Given the description of an element on the screen output the (x, y) to click on. 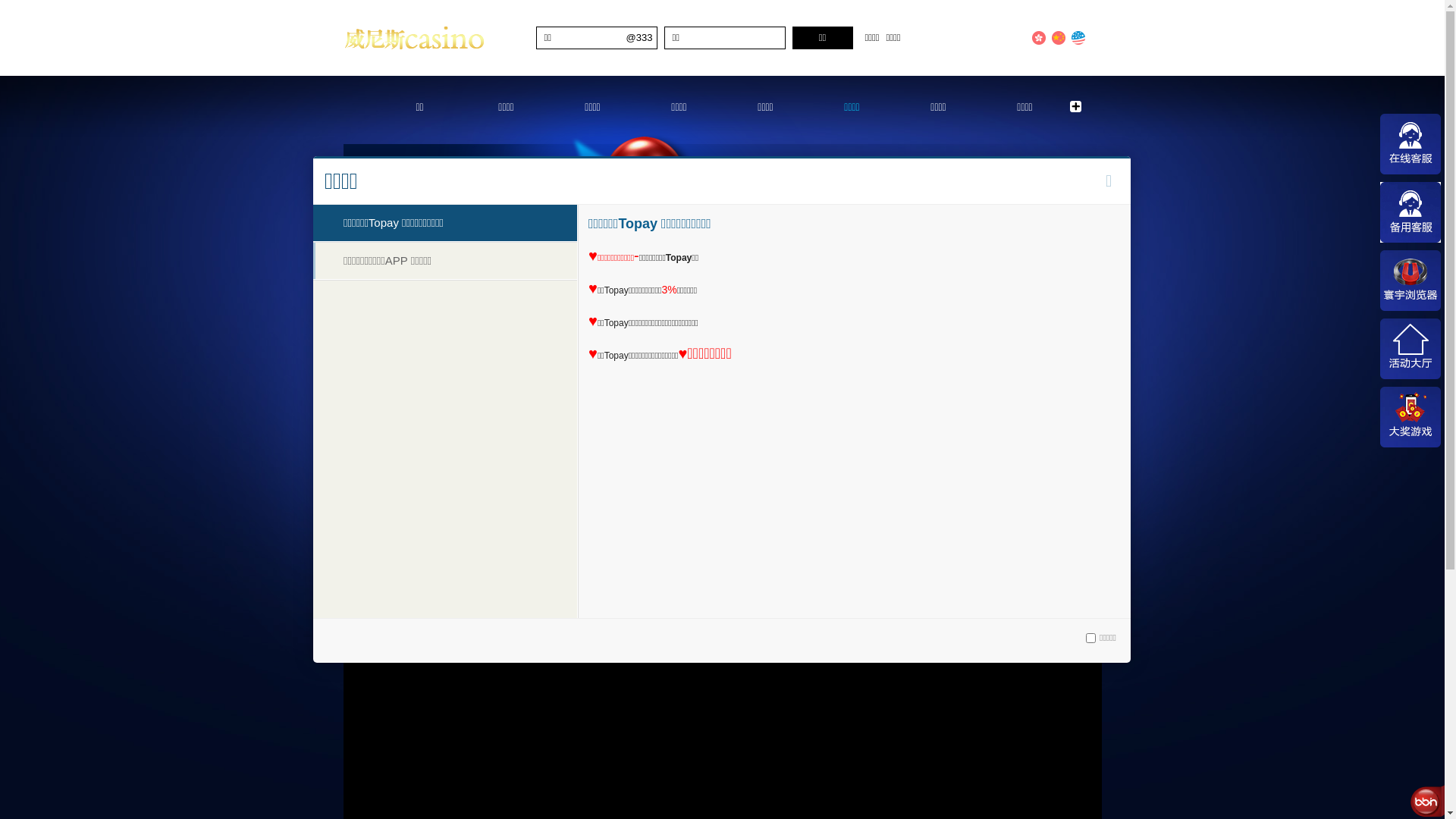
English Element type: hover (1077, 37)
